Given the description of an element on the screen output the (x, y) to click on. 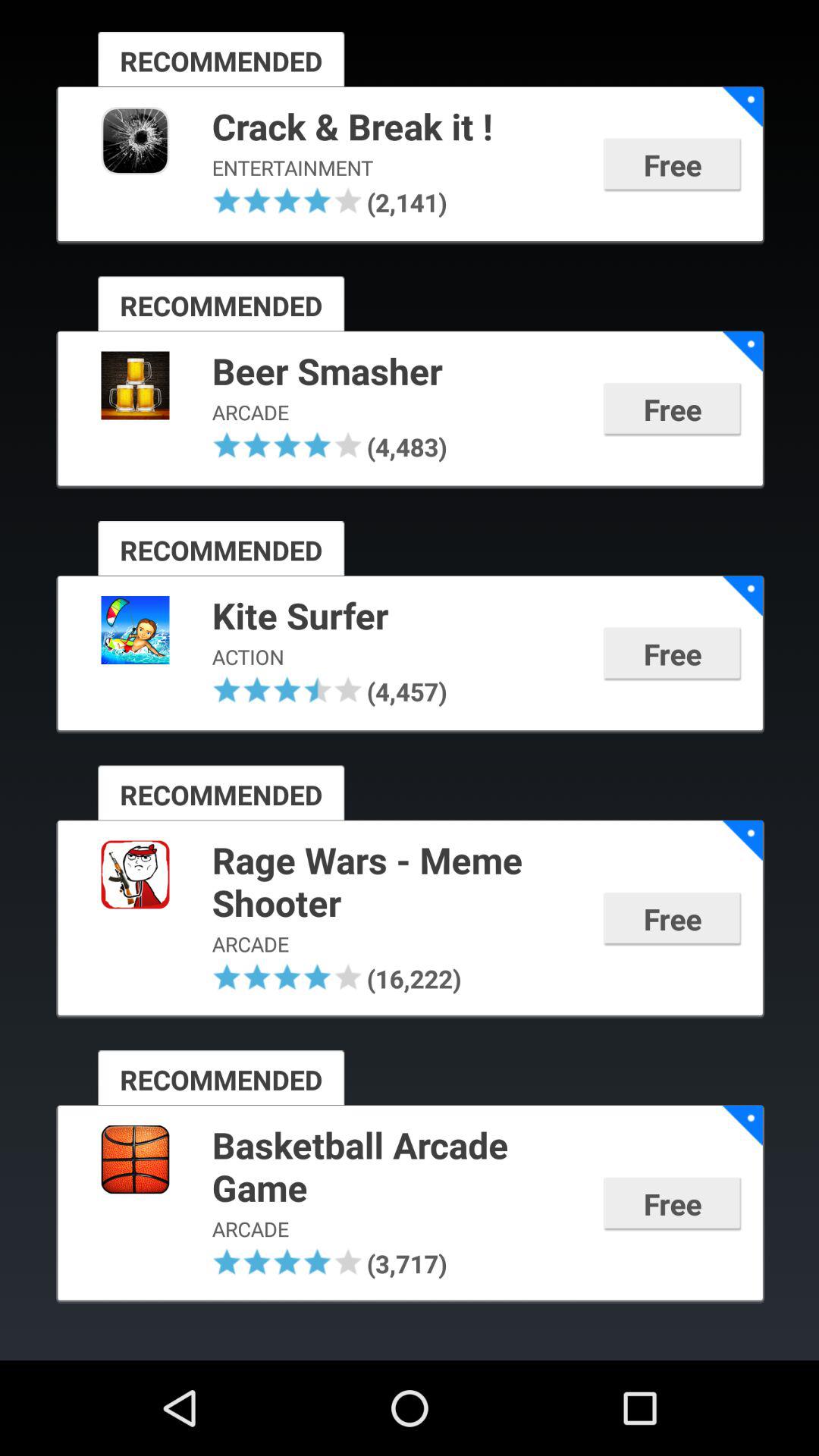
flip to the kite surfer app (397, 617)
